Given the description of an element on the screen output the (x, y) to click on. 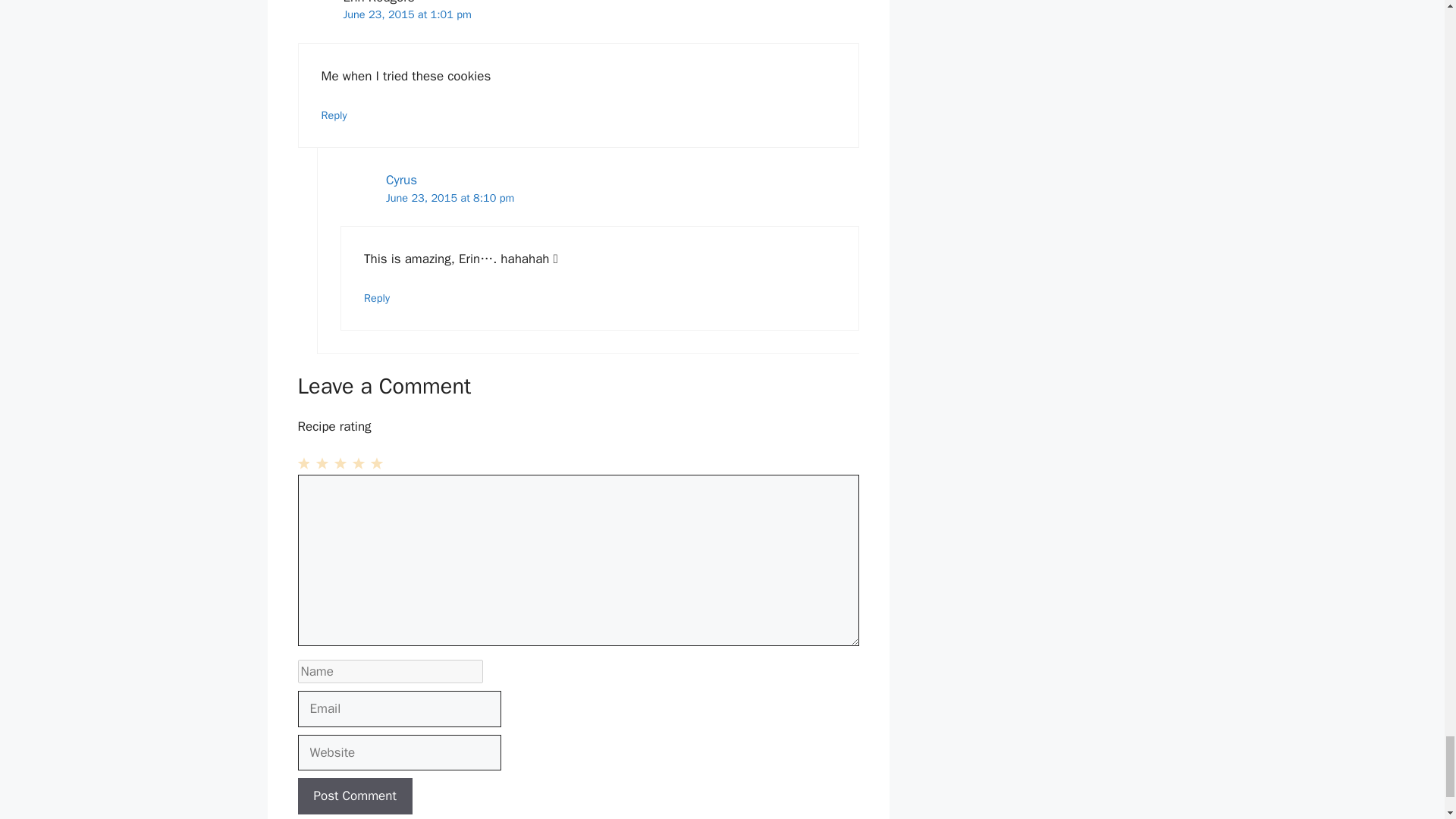
Post Comment (354, 796)
